Given the description of an element on the screen output the (x, y) to click on. 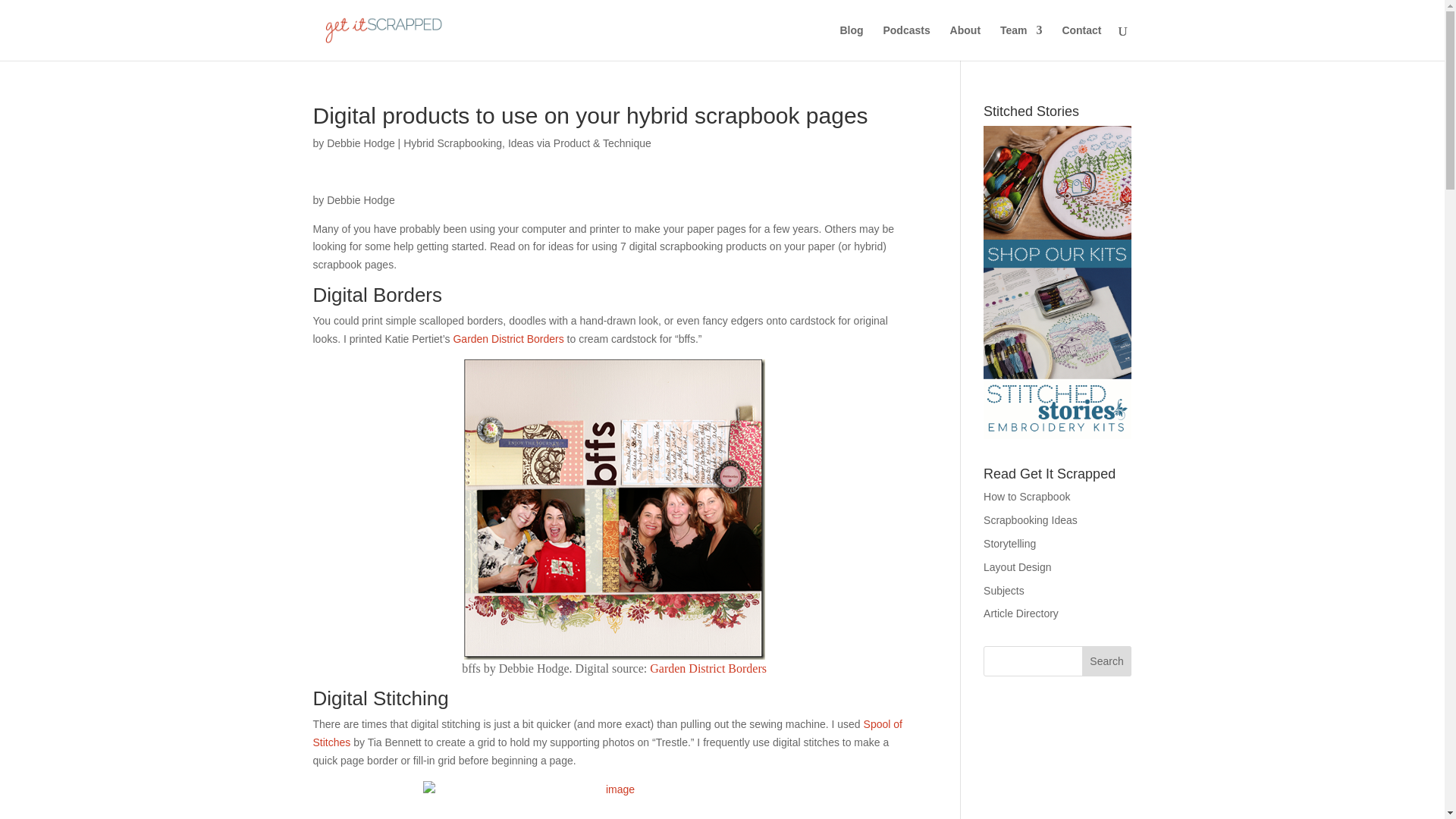
Podcasts (906, 42)
image (614, 800)
Posts by Debbie Hodge (360, 143)
Search (1106, 661)
Hybrid Scrapbooking (452, 143)
Hybrid scrapbook page with digital floral border (614, 509)
Team (1021, 42)
Spool of Stitches (607, 733)
Garden District Borders (507, 338)
Debbie Hodge (360, 143)
Contact (1080, 42)
Garden District Borders (708, 667)
